Given the description of an element on the screen output the (x, y) to click on. 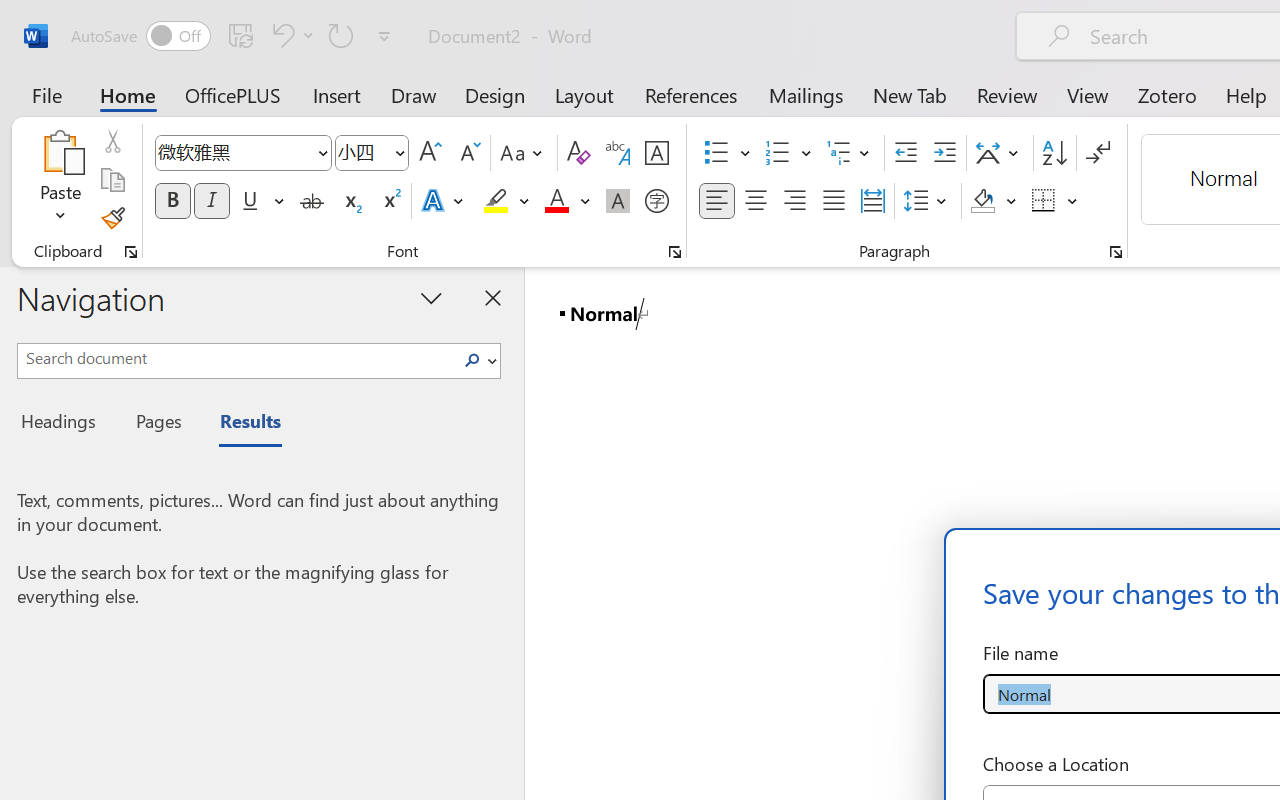
Undo Style (280, 35)
Undo Style (290, 35)
Clear Formatting (578, 153)
Text Highlight Color (506, 201)
File Tab (46, 94)
Text Effects and Typography (444, 201)
OfficePLUS (233, 94)
Cut (112, 141)
Character Shading (618, 201)
View (1087, 94)
Font (234, 152)
AutoSave (140, 35)
Format Painter (112, 218)
